Given the description of an element on the screen output the (x, y) to click on. 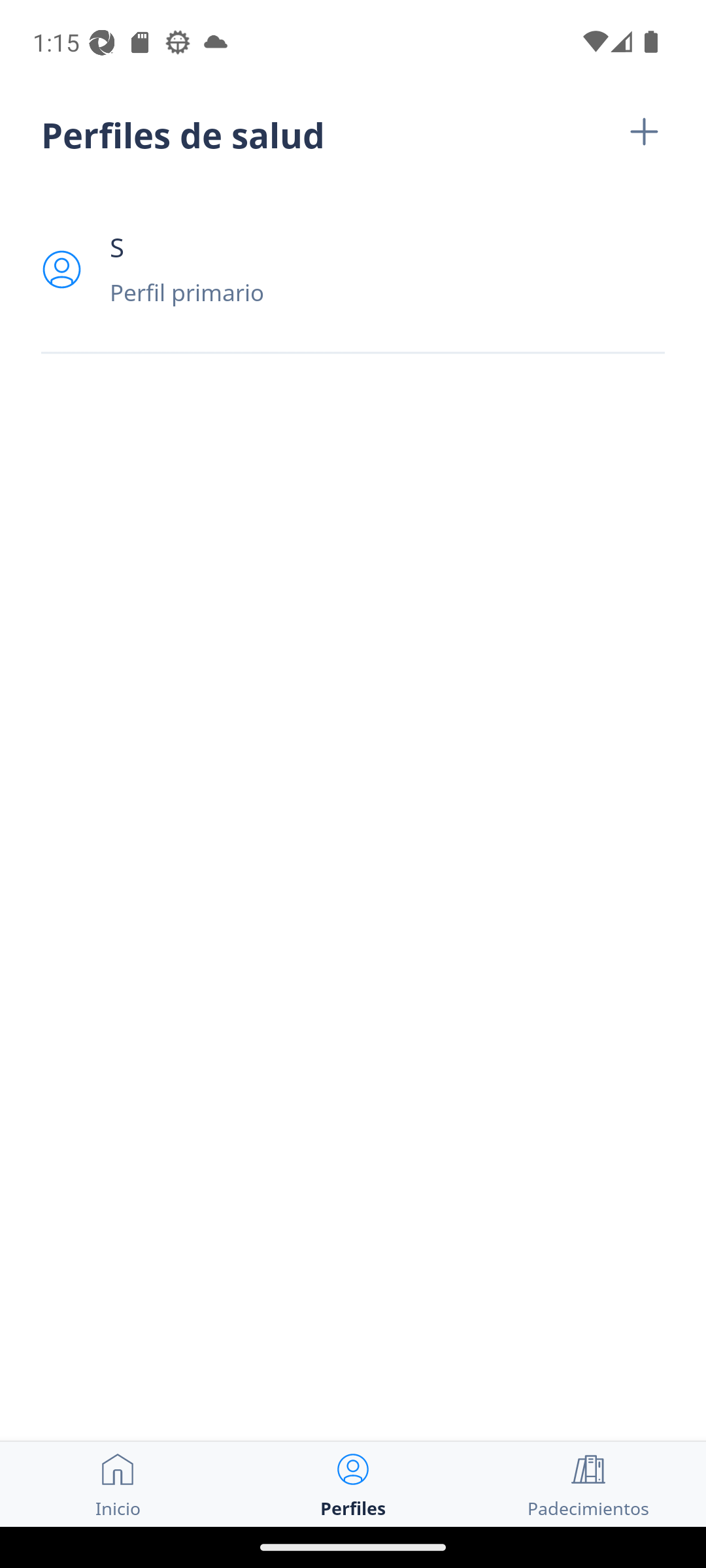
S Perfil primario (352, 269)
Inicio (117, 1484)
Perfiles (352, 1484)
Padecimientos (588, 1484)
